Given the description of an element on the screen output the (x, y) to click on. 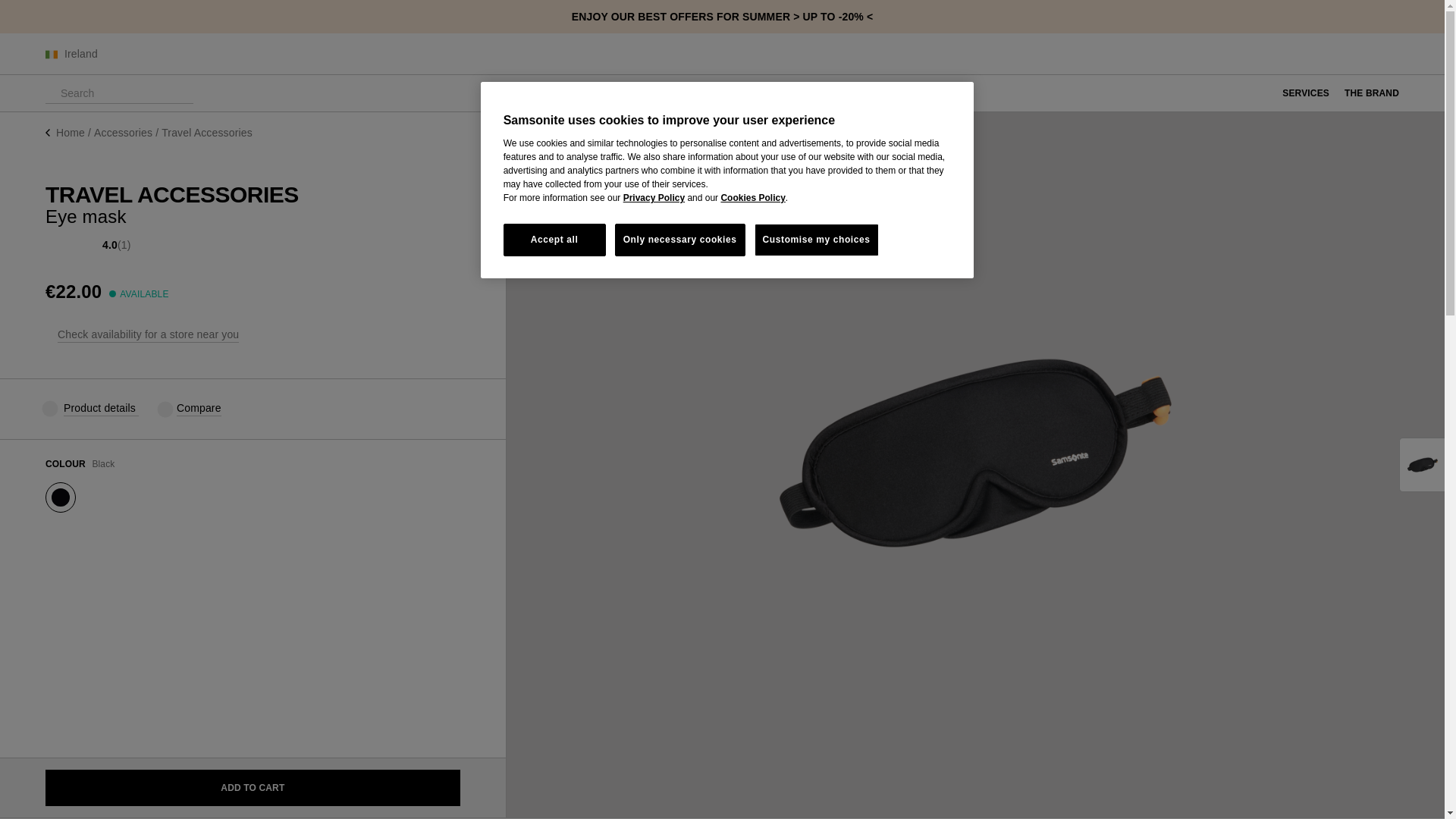
product-rating (82, 245)
details (48, 408)
product-rating (50, 245)
LUGGAGE (517, 93)
compare (164, 408)
product-rating (61, 245)
Samsonite (721, 53)
product-rating (93, 245)
product-rating (71, 245)
